Given the description of an element on the screen output the (x, y) to click on. 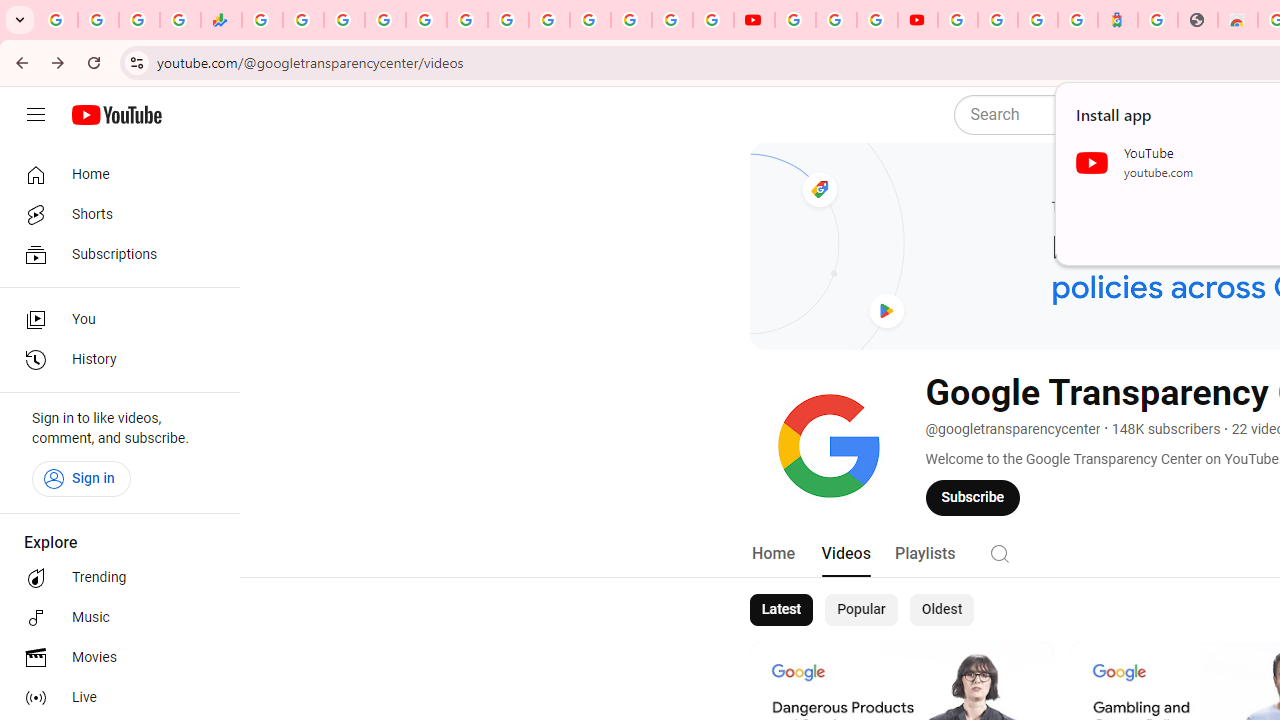
Movies (113, 657)
Content Creator Programs & Opportunities - YouTube Creators (918, 20)
Live (113, 697)
Create your Google Account (877, 20)
YouTube (548, 20)
